Given the description of an element on the screen output the (x, y) to click on. 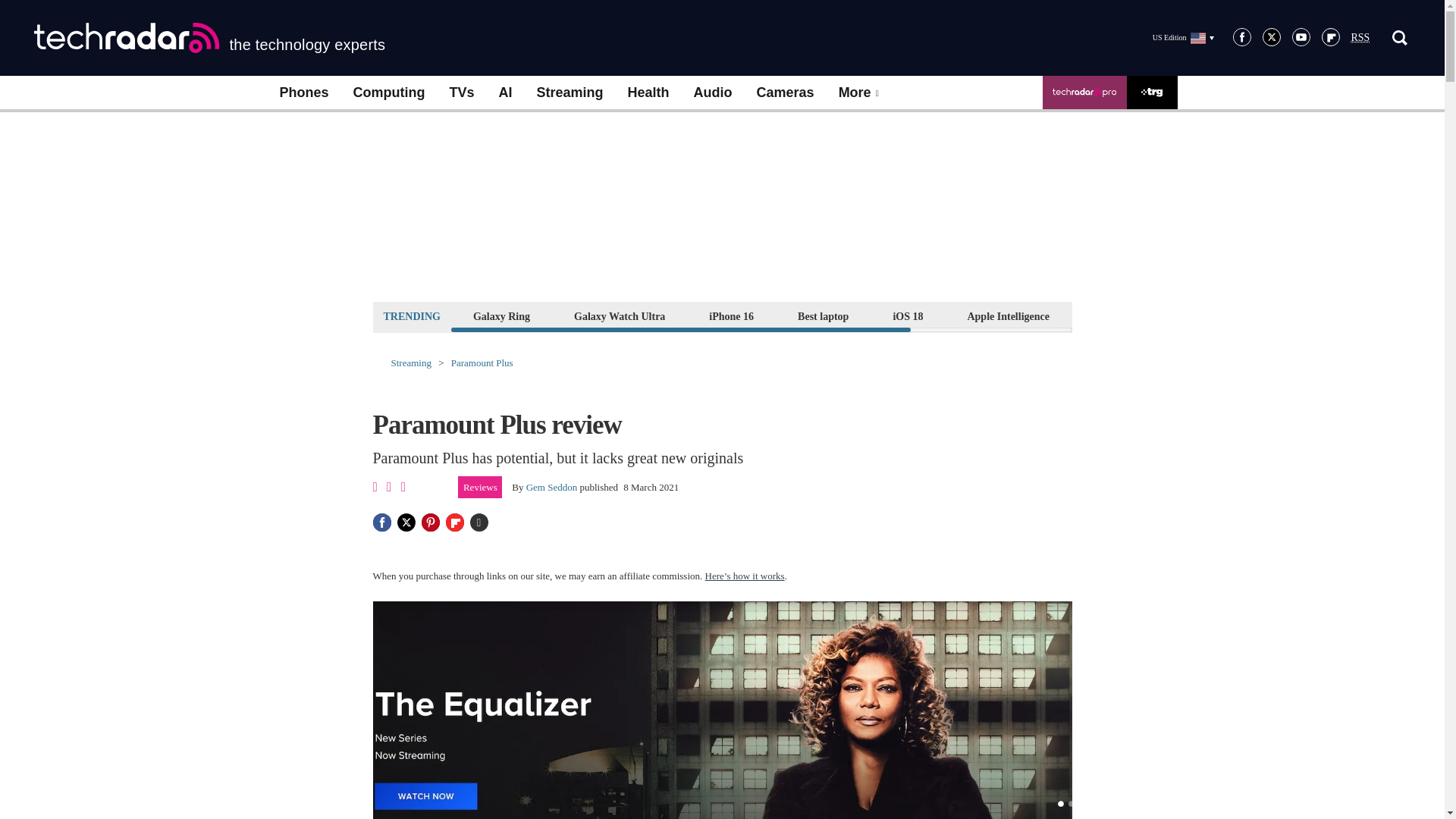
Really Simple Syndication (1360, 37)
TVs (461, 92)
Audio (712, 92)
Phones (303, 92)
US Edition (1182, 37)
AI (505, 92)
Cameras (785, 92)
Health (648, 92)
Streaming (569, 92)
Computing (389, 92)
